Given the description of an element on the screen output the (x, y) to click on. 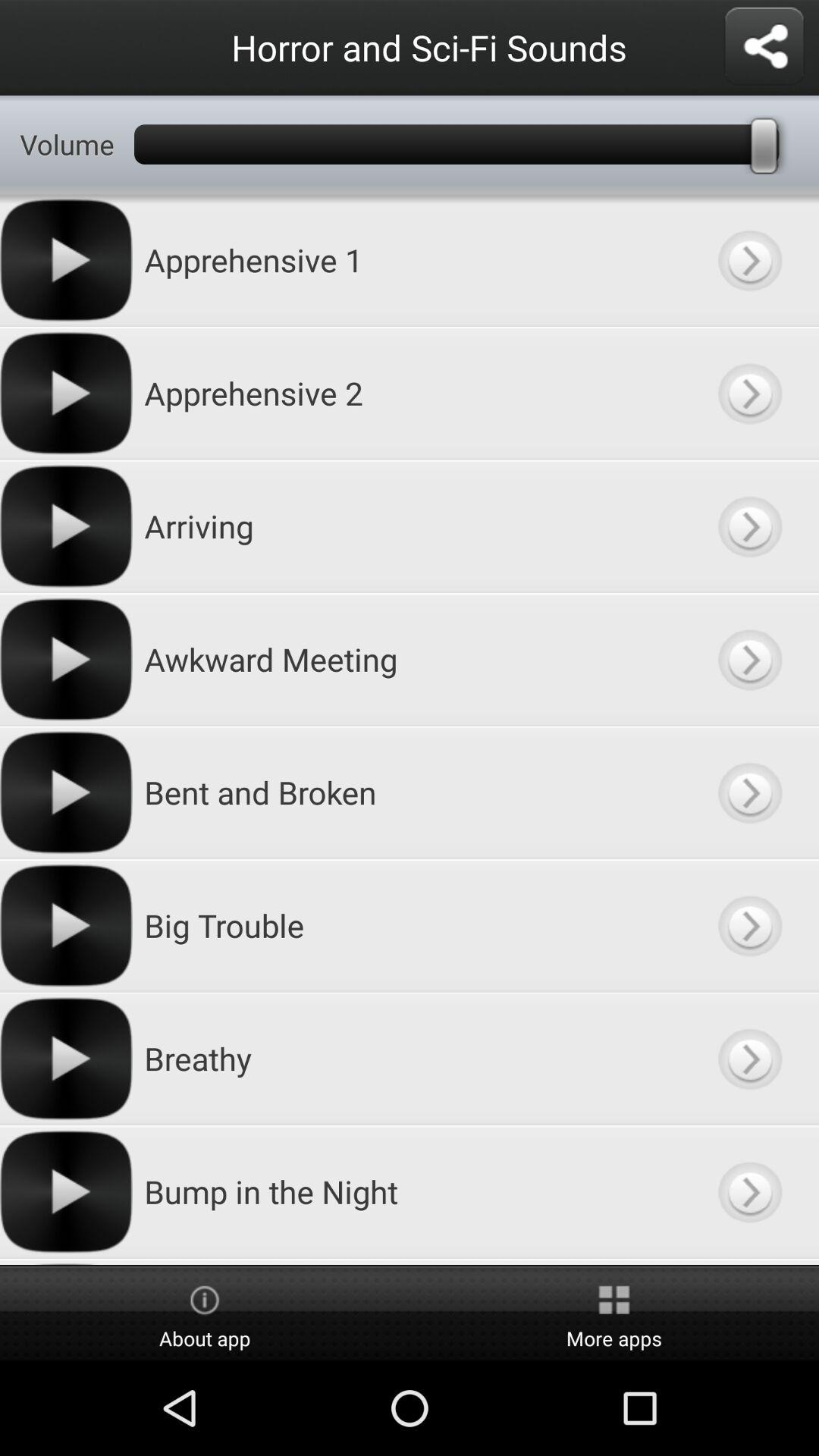
shows other actions for track (749, 259)
